Given the description of an element on the screen output the (x, y) to click on. 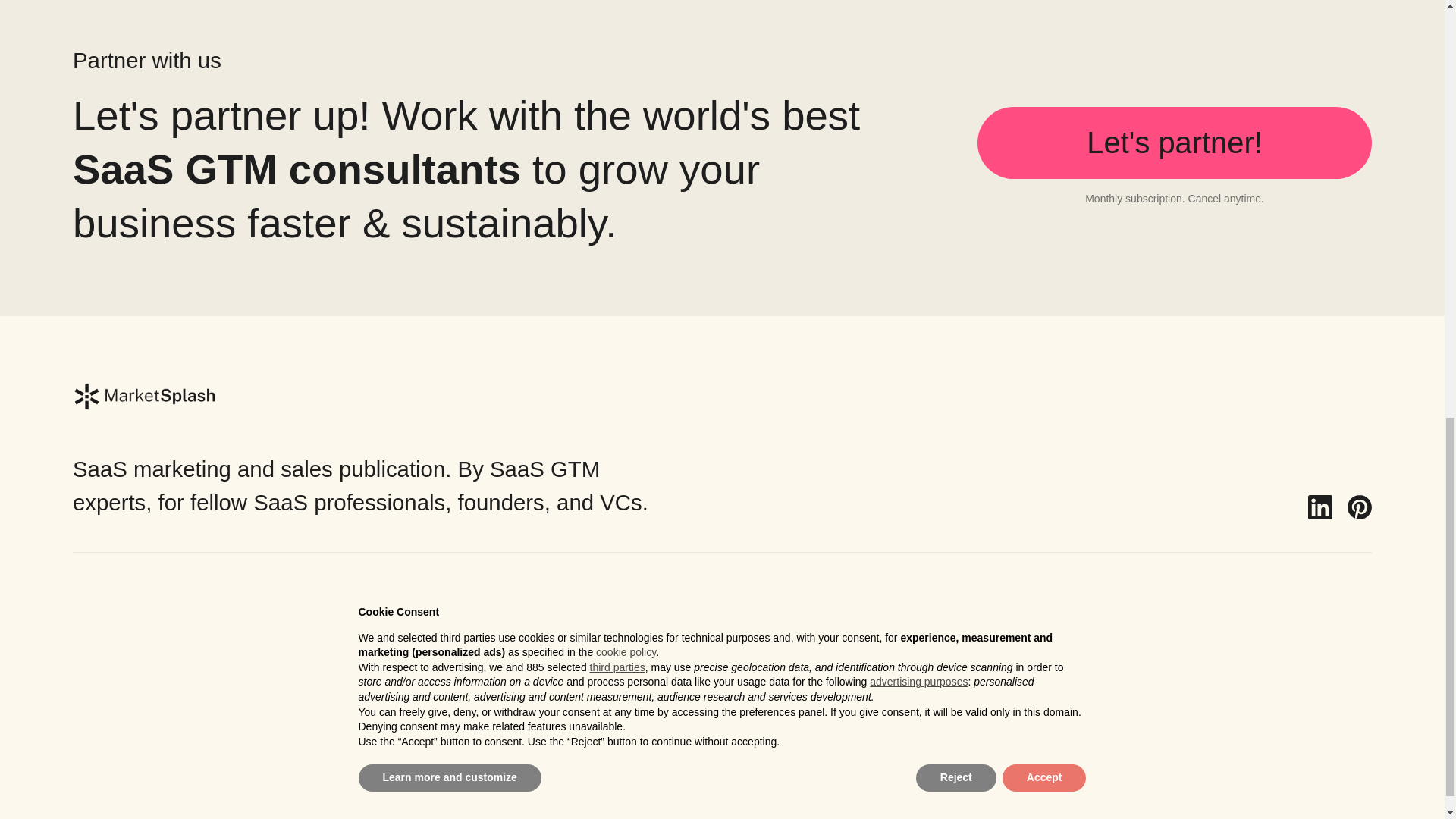
Cookie Policy (122, 728)
Let's partner! (1173, 143)
Privacy Policy (124, 665)
MarketSplash (142, 811)
Terms Of Service (136, 696)
